Given the description of an element on the screen output the (x, y) to click on. 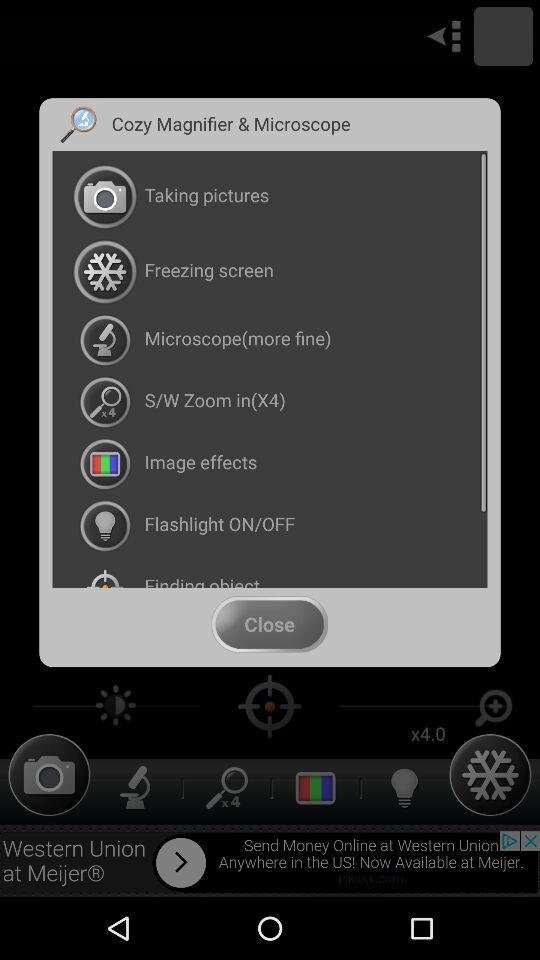
launch close (269, 623)
